Given the description of an element on the screen output the (x, y) to click on. 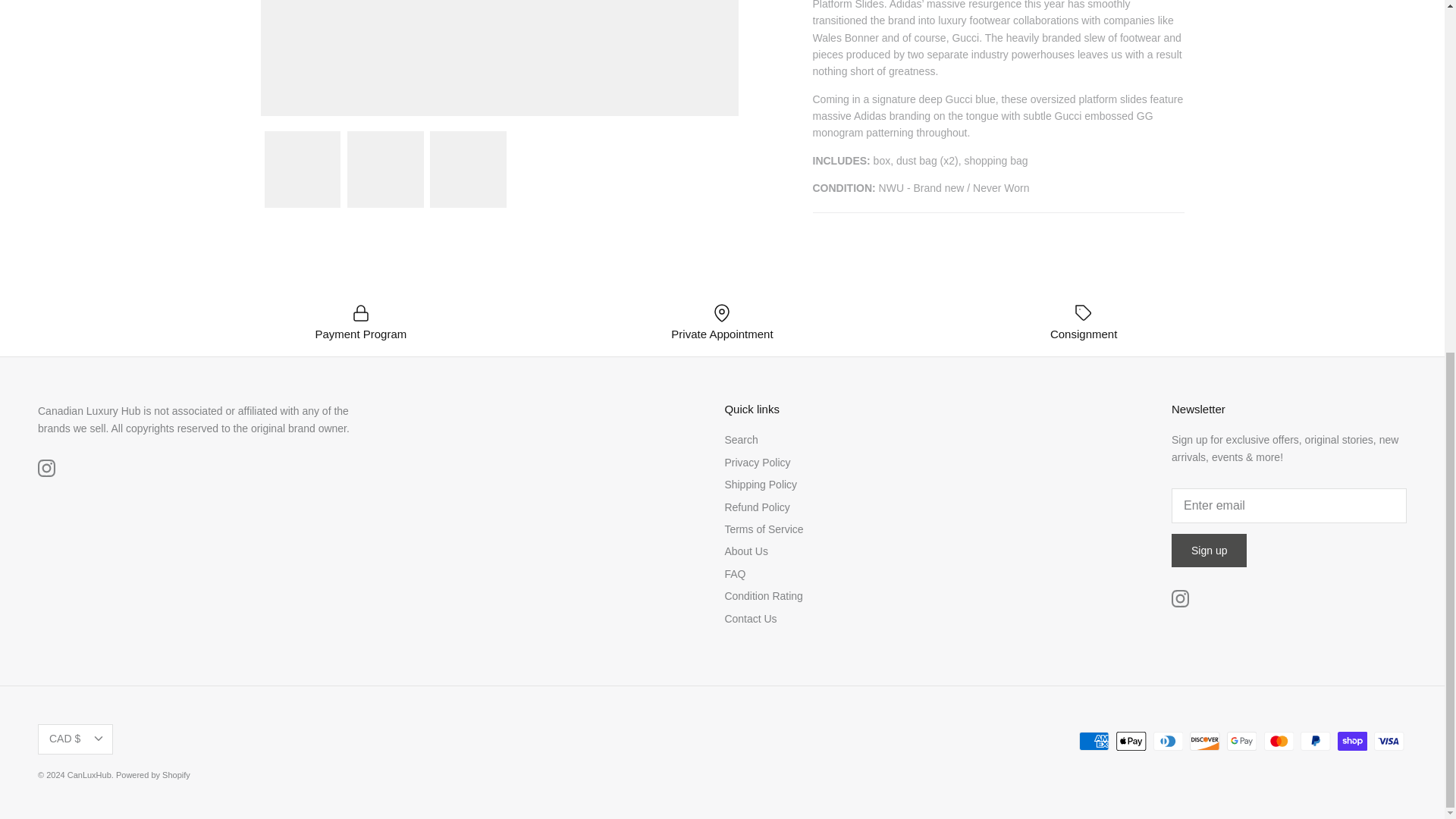
American Express (1093, 741)
Discover (1204, 741)
Shop Pay (1352, 741)
Down (97, 738)
Instagram (1180, 598)
Google Pay (1241, 741)
Mastercard (1277, 741)
Instagram (46, 467)
PayPal (1315, 741)
Label (1083, 312)
Apple Pay (1130, 741)
Diners Club (1168, 741)
Visa (1388, 741)
